Given the description of an element on the screen output the (x, y) to click on. 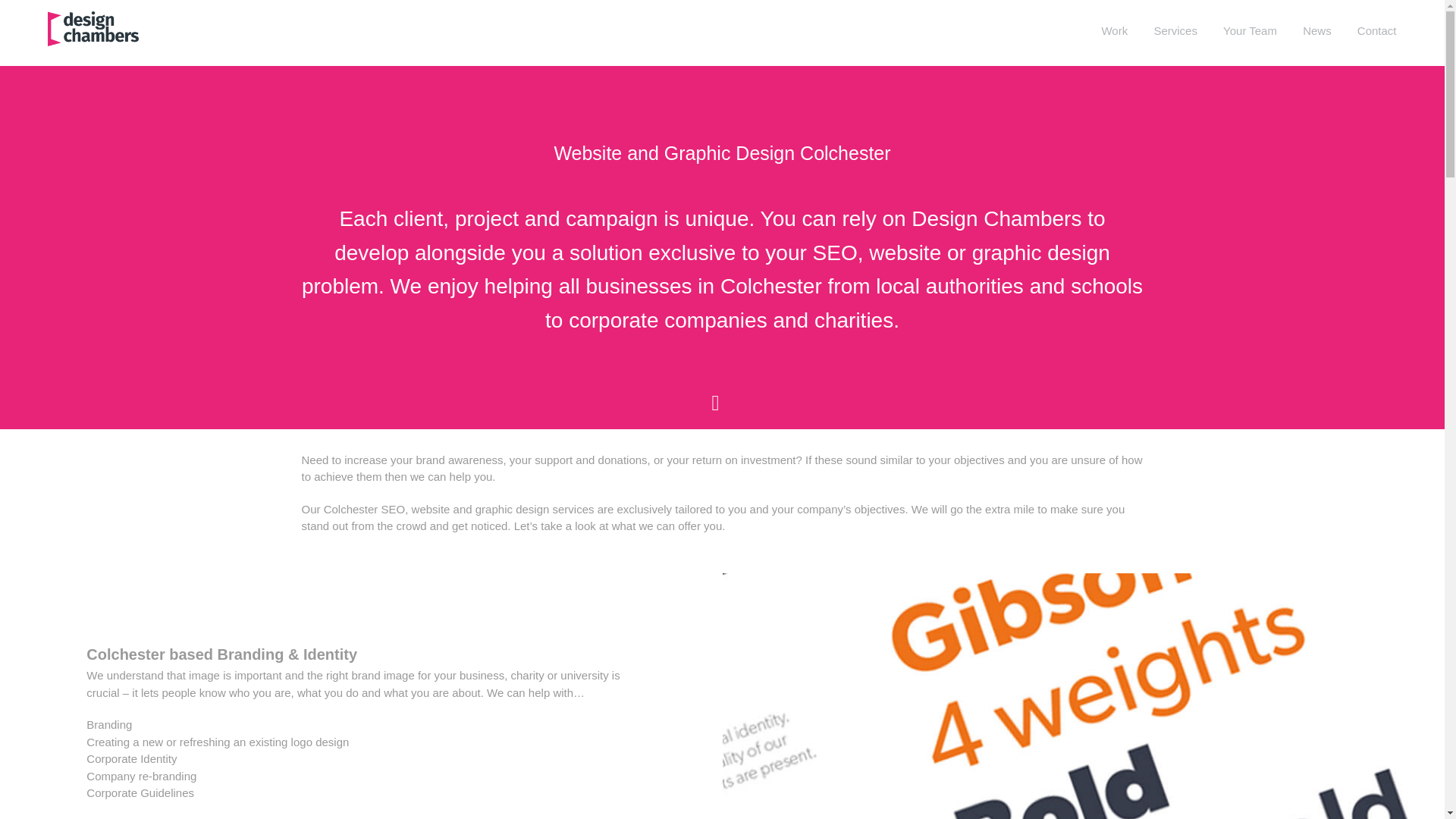
Services (1174, 31)
Work (1113, 31)
Contact (1376, 31)
News (1317, 31)
Your Team (1249, 31)
